Given the description of an element on the screen output the (x, y) to click on. 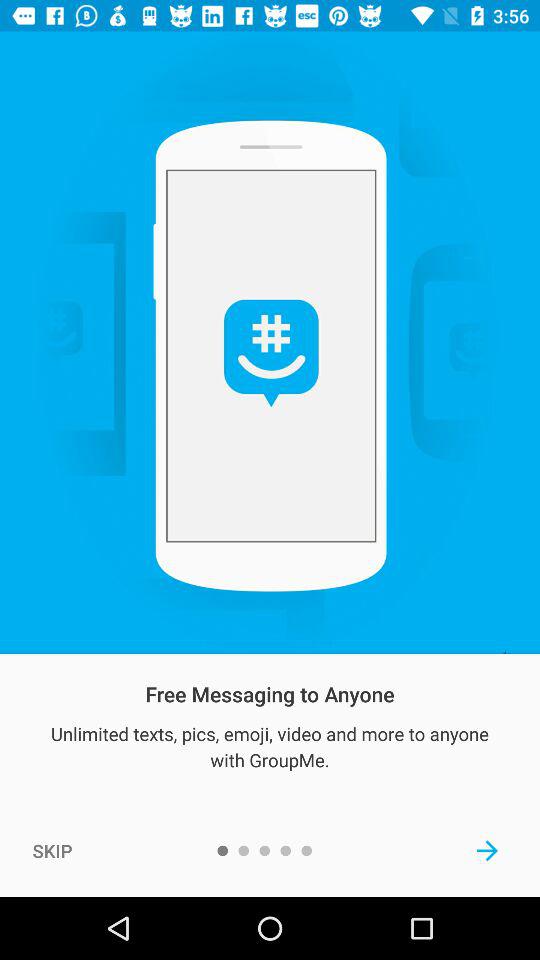
open icon next to skip icon (487, 850)
